Given the description of an element on the screen output the (x, y) to click on. 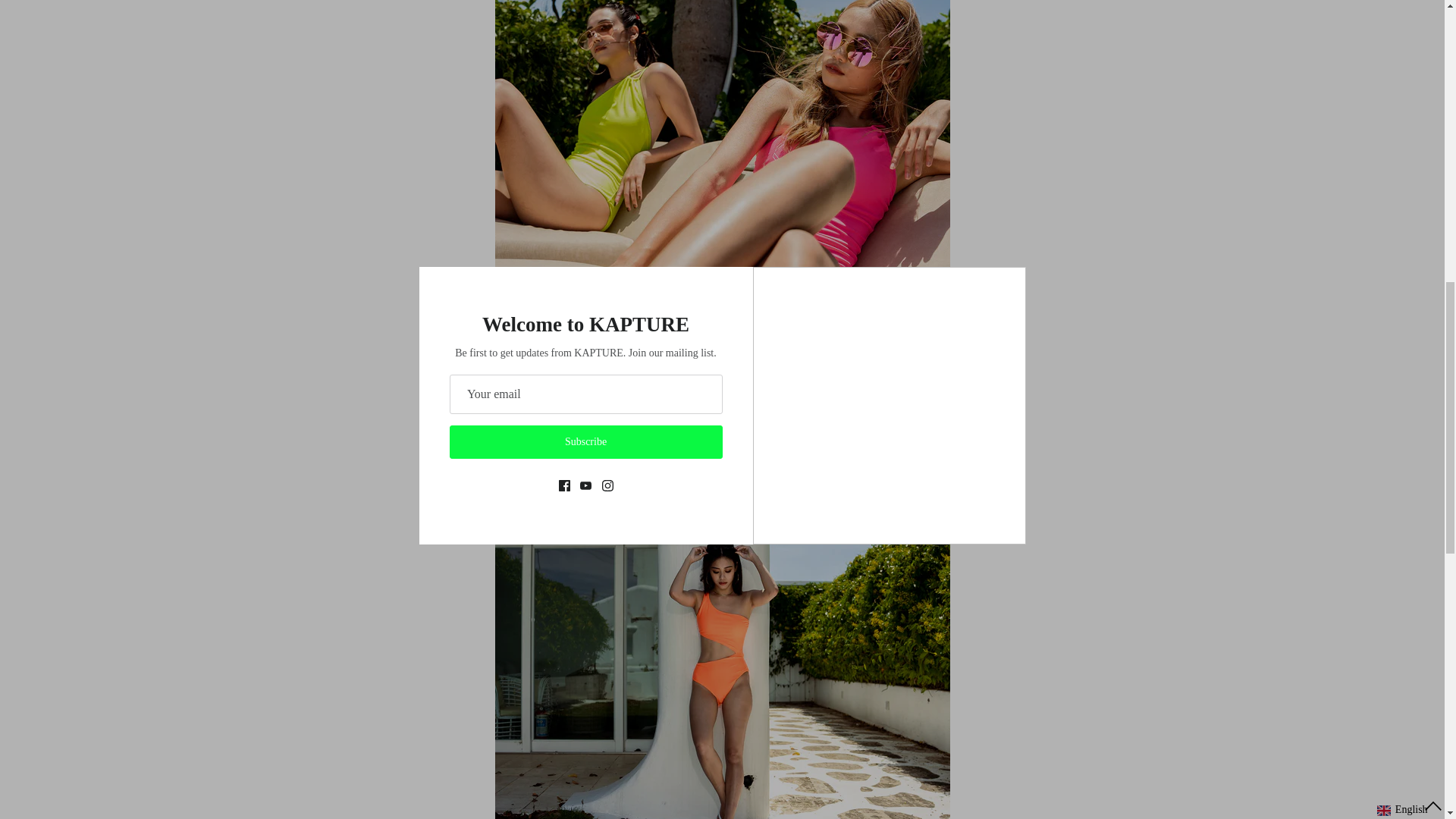
Dayglow One Shoulder Recylced One Piece Swimsuit (722, 309)
